Given the description of an element on the screen output the (x, y) to click on. 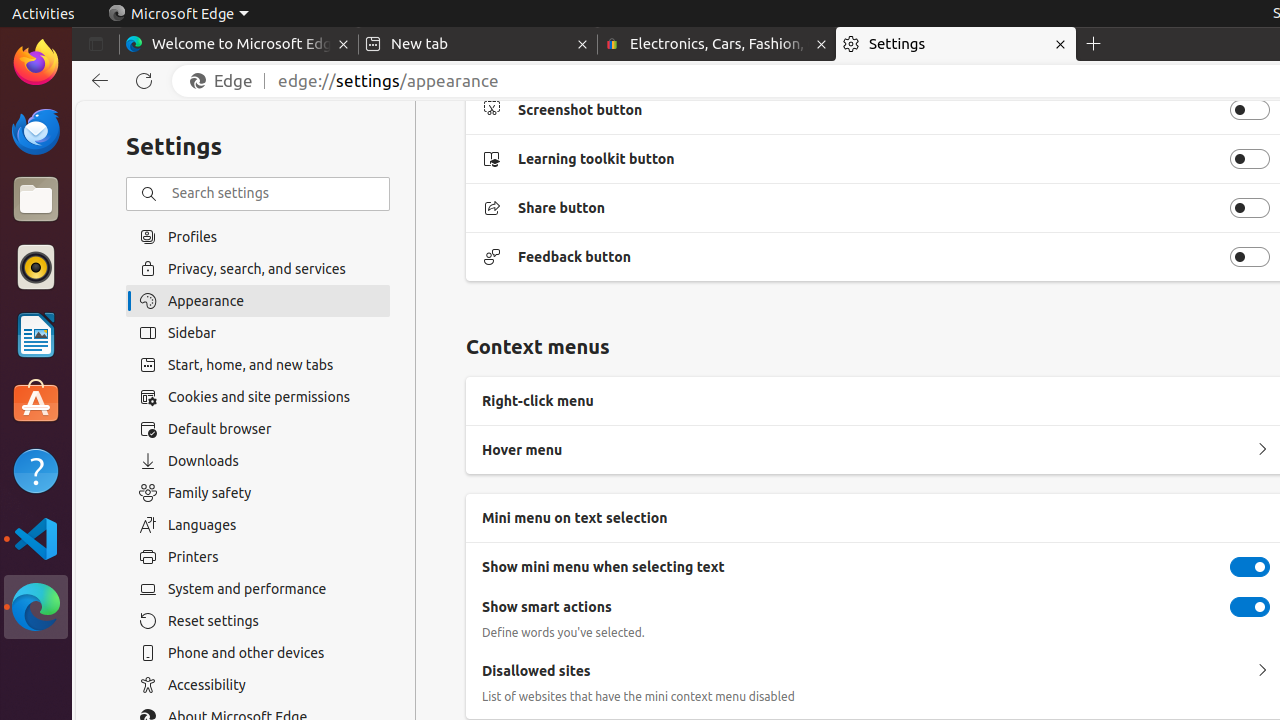
Phone and other devices Element type: tree-item (258, 653)
Settings Element type: page-tab (956, 44)
Electronics, Cars, Fashion, Collectibles & More | eBay Element type: page-tab (717, 44)
Firefox Web Browser Element type: push-button (36, 63)
Privacy, search, and services Element type: tree-item (258, 268)
